Given the description of an element on the screen output the (x, y) to click on. 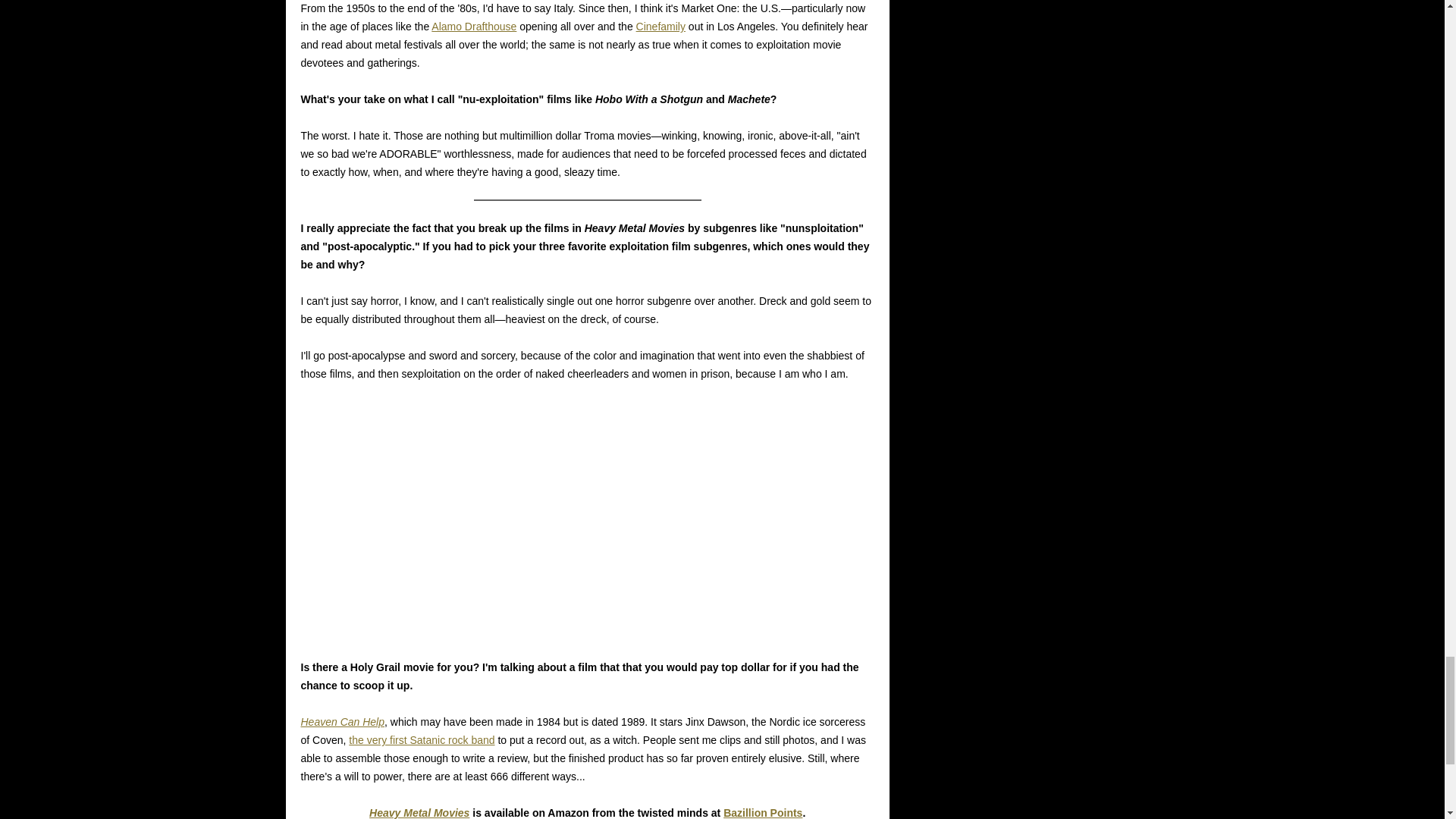
Heaven Can Help (341, 721)
Heavy Metal Movies (418, 812)
the very first Satanic rock band (422, 739)
Alamo Drafthouse (473, 26)
Bazillion Points (762, 812)
Cinefamily (660, 26)
